Given the description of an element on the screen output the (x, y) to click on. 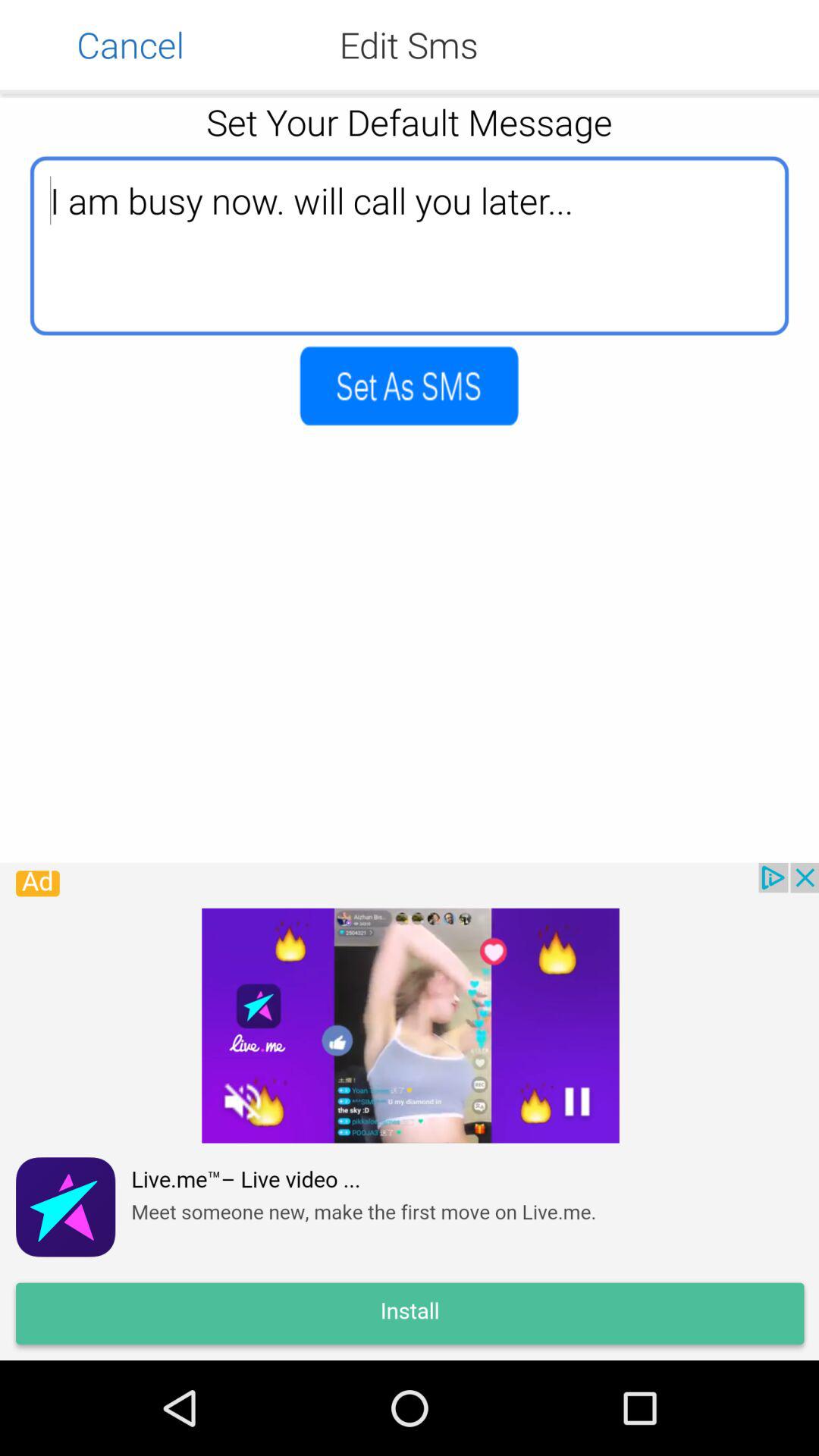
type as sms page (408, 385)
